Given the description of an element on the screen output the (x, y) to click on. 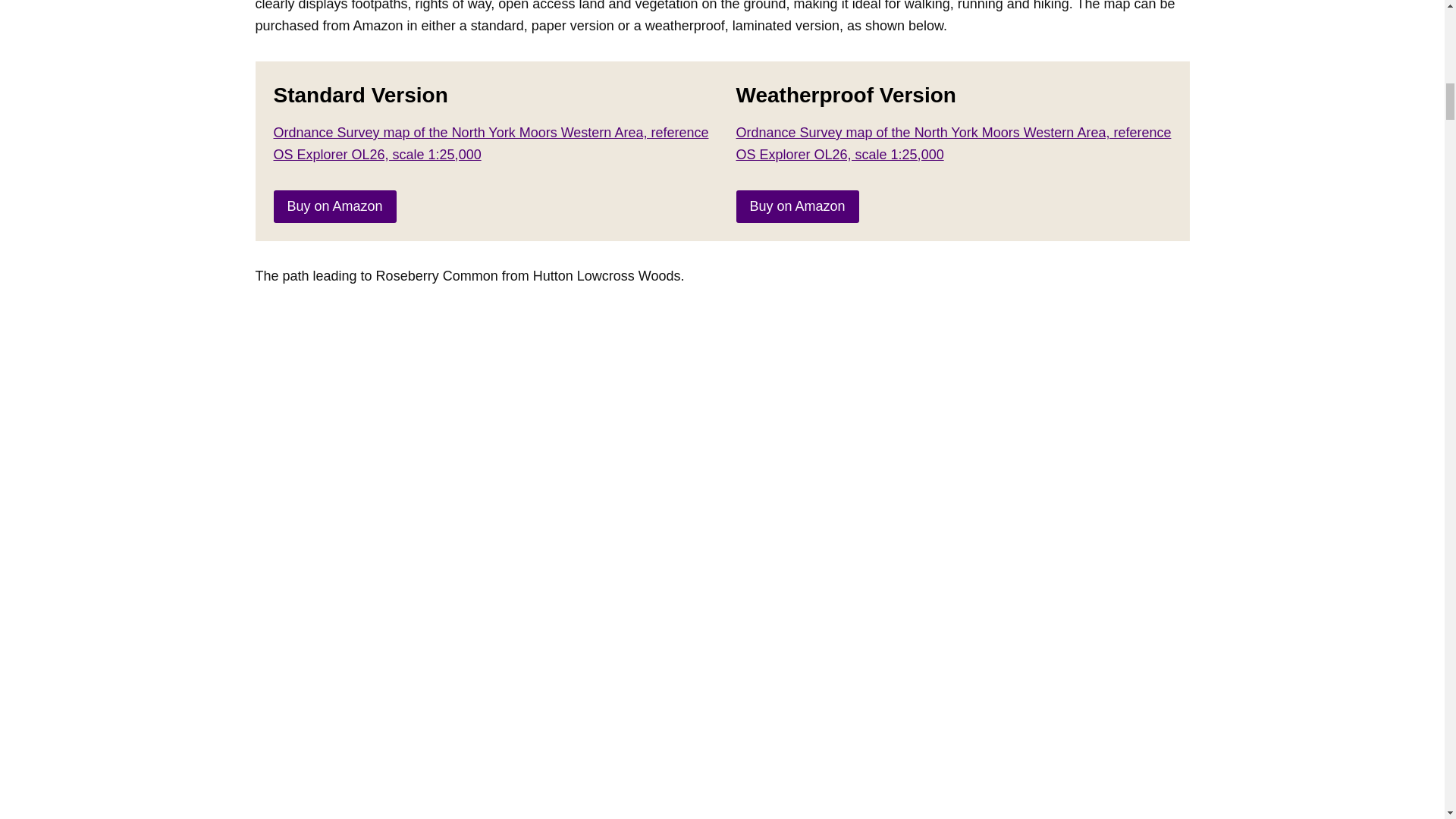
Buy on Amazon (334, 206)
Buy on Amazon (797, 206)
